Given the description of an element on the screen output the (x, y) to click on. 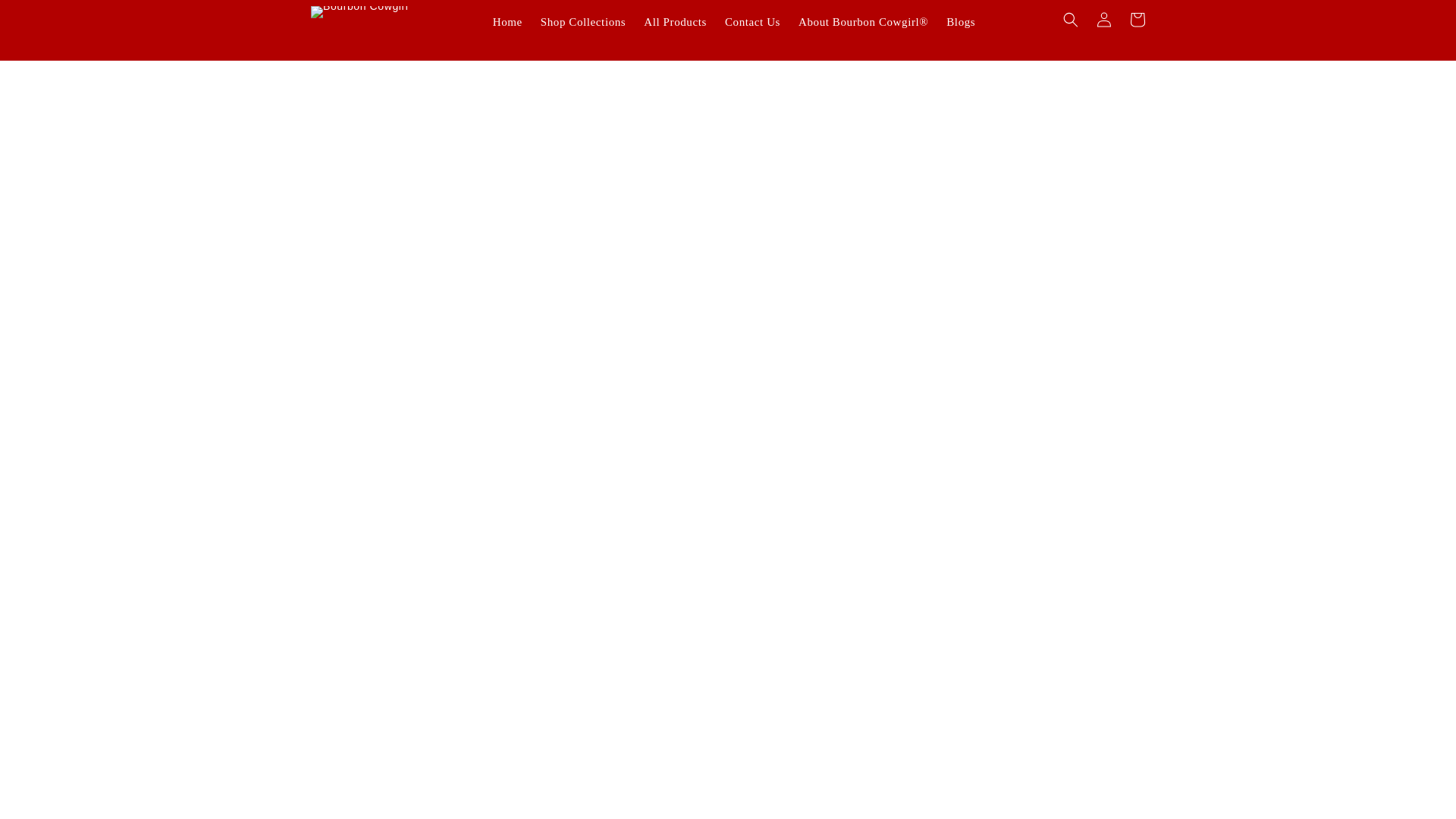
Log in (1104, 16)
Cart (1137, 16)
All Products (675, 22)
Home (507, 22)
Contact Us (752, 22)
Skip to content (45, 17)
Shop Collections (582, 22)
Blogs (960, 22)
